Given the description of an element on the screen output the (x, y) to click on. 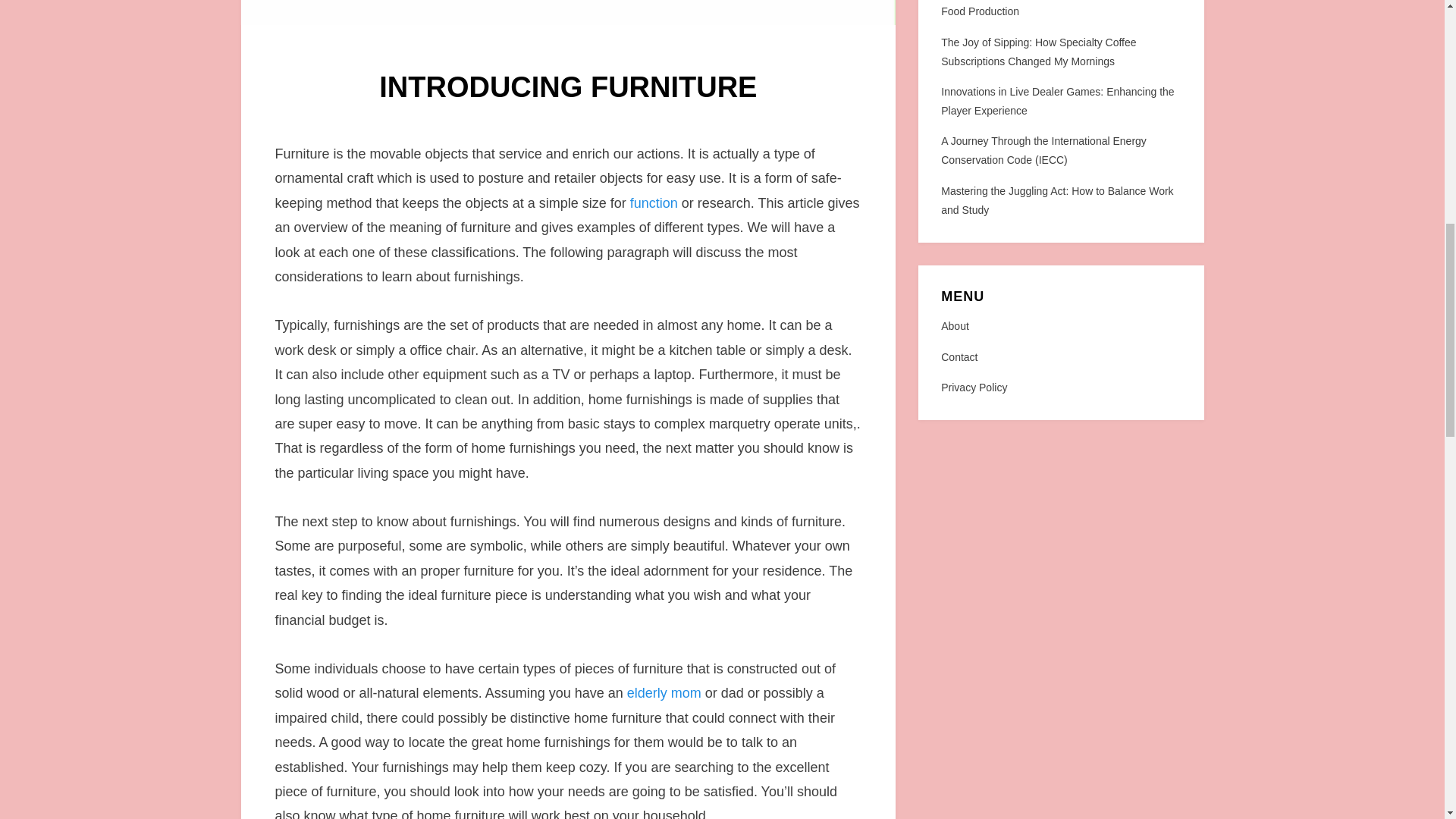
Mastering the Juggling Act: How to Balance Work and Study (1056, 200)
Contact (1060, 357)
elderly mom (664, 693)
About (1060, 325)
function (654, 202)
Privacy Policy (1060, 387)
